Given the description of an element on the screen output the (x, y) to click on. 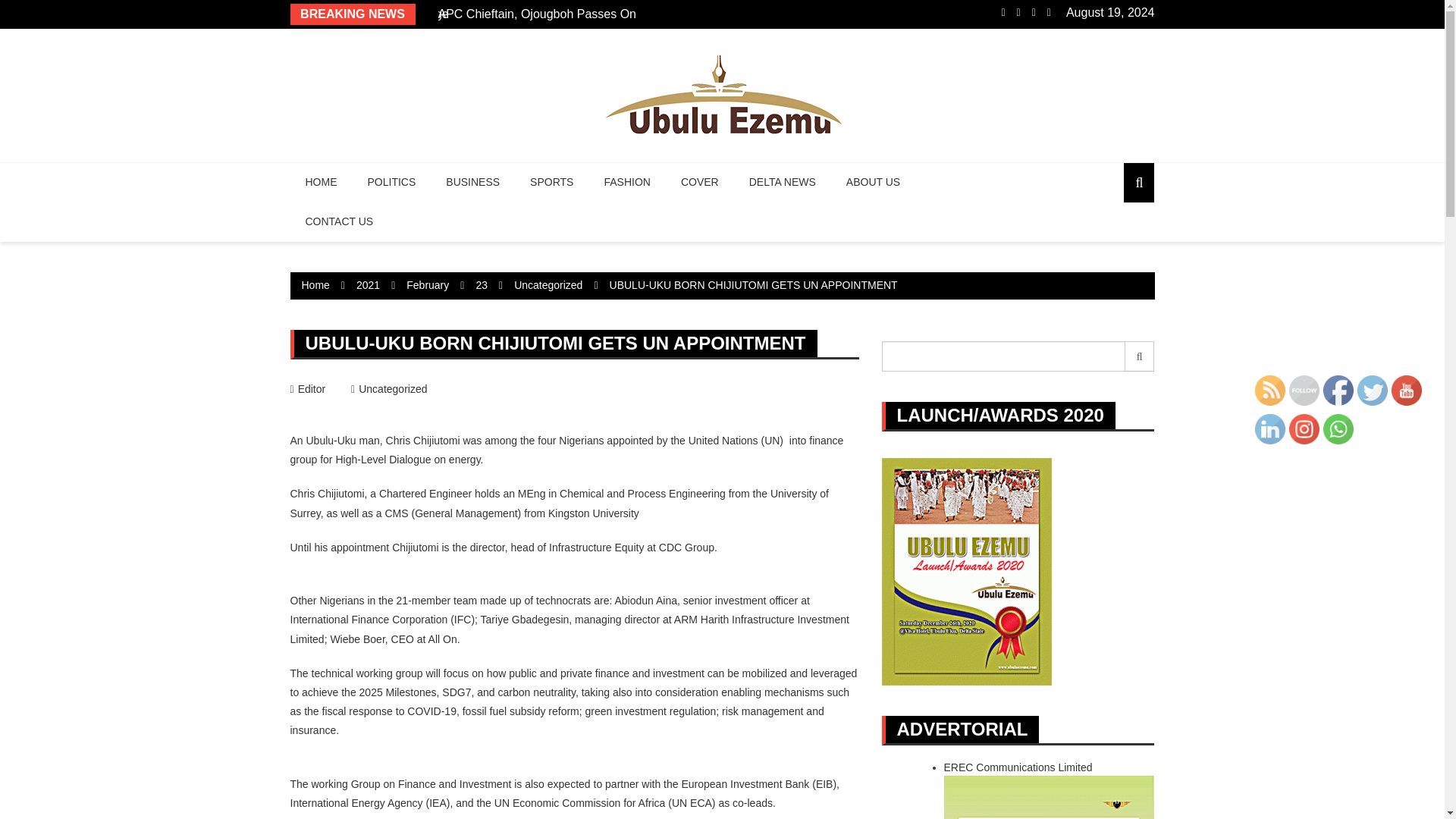
23 (481, 285)
BUSINESS (472, 182)
February (427, 285)
Follow by Email (1303, 390)
YouTube (1406, 390)
DELTA NEWS (782, 182)
Editor (306, 388)
Facebook (1338, 390)
HOME (320, 182)
COVER (699, 182)
